Given the description of an element on the screen output the (x, y) to click on. 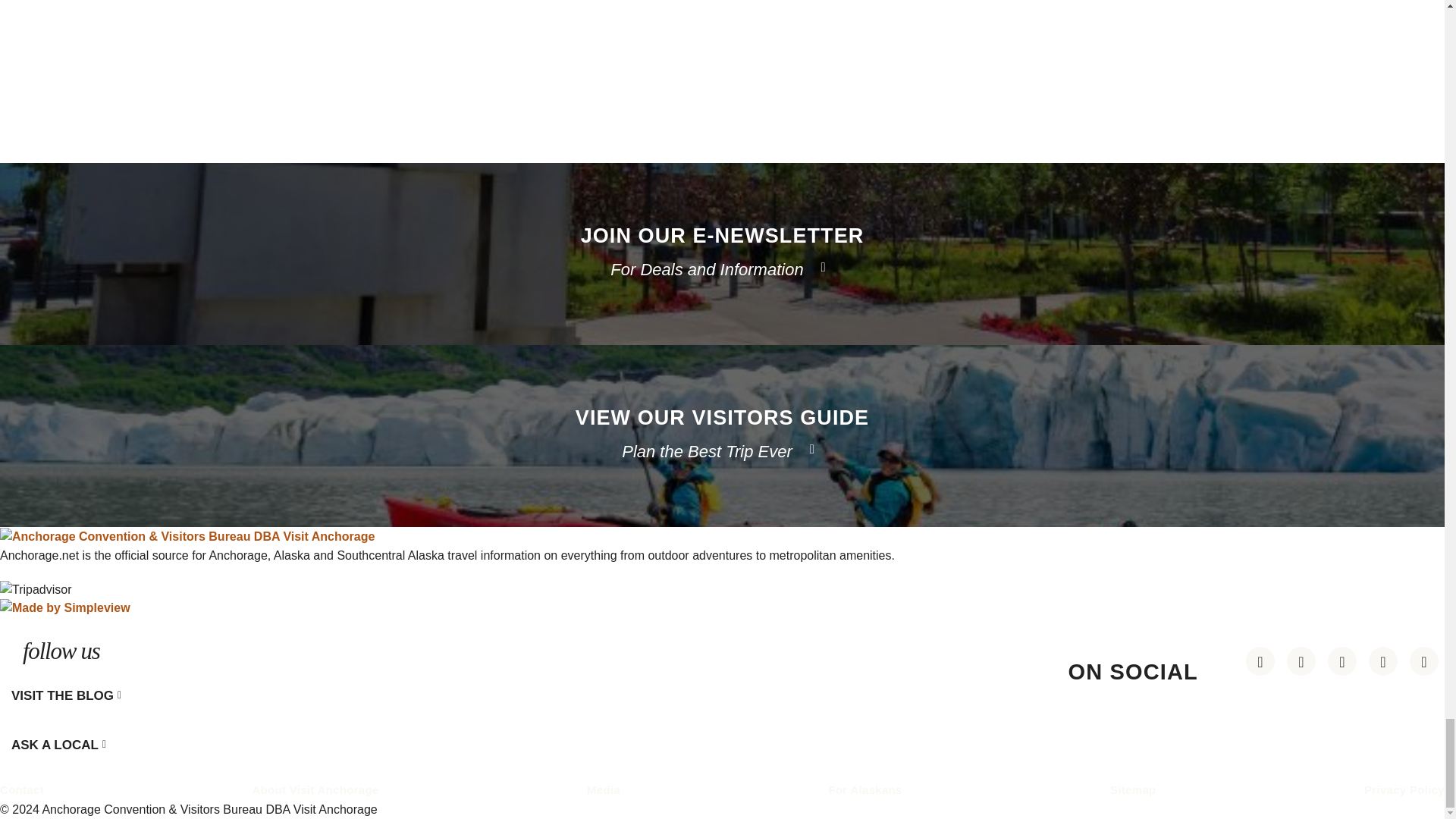
Visit our instagram page (1301, 661)
Contact (21, 789)
Visit our twitter page (1423, 661)
For Alaskans (864, 789)
About Visit Anchorage (314, 789)
Media (603, 789)
Visit our facebook page (1382, 661)
Visit our pinterest page (1260, 661)
Visit our youtube page (1341, 661)
Sitemap (1132, 789)
